Given the description of an element on the screen output the (x, y) to click on. 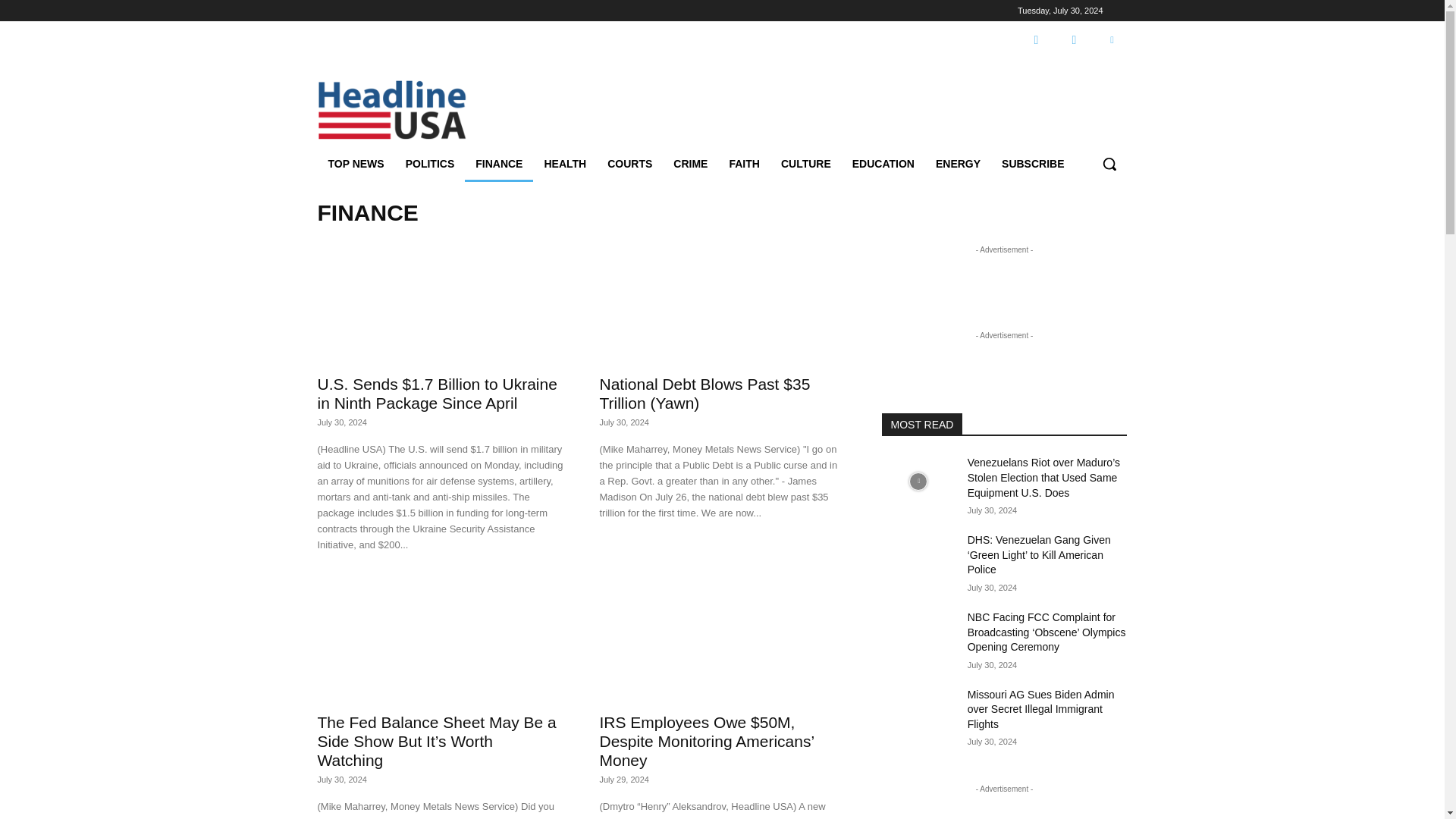
FINANCE (498, 163)
COURTS (629, 163)
CULTURE (805, 163)
TOP NEWS (355, 163)
Instagram (1073, 40)
CRIME (689, 163)
POLITICS (429, 163)
SUBSCRIBE (1032, 163)
Facebook (1035, 40)
HEALTH (564, 163)
FAITH (743, 163)
EDUCATION (882, 163)
Twitter (1111, 40)
ENERGY (957, 163)
